Given the description of an element on the screen output the (x, y) to click on. 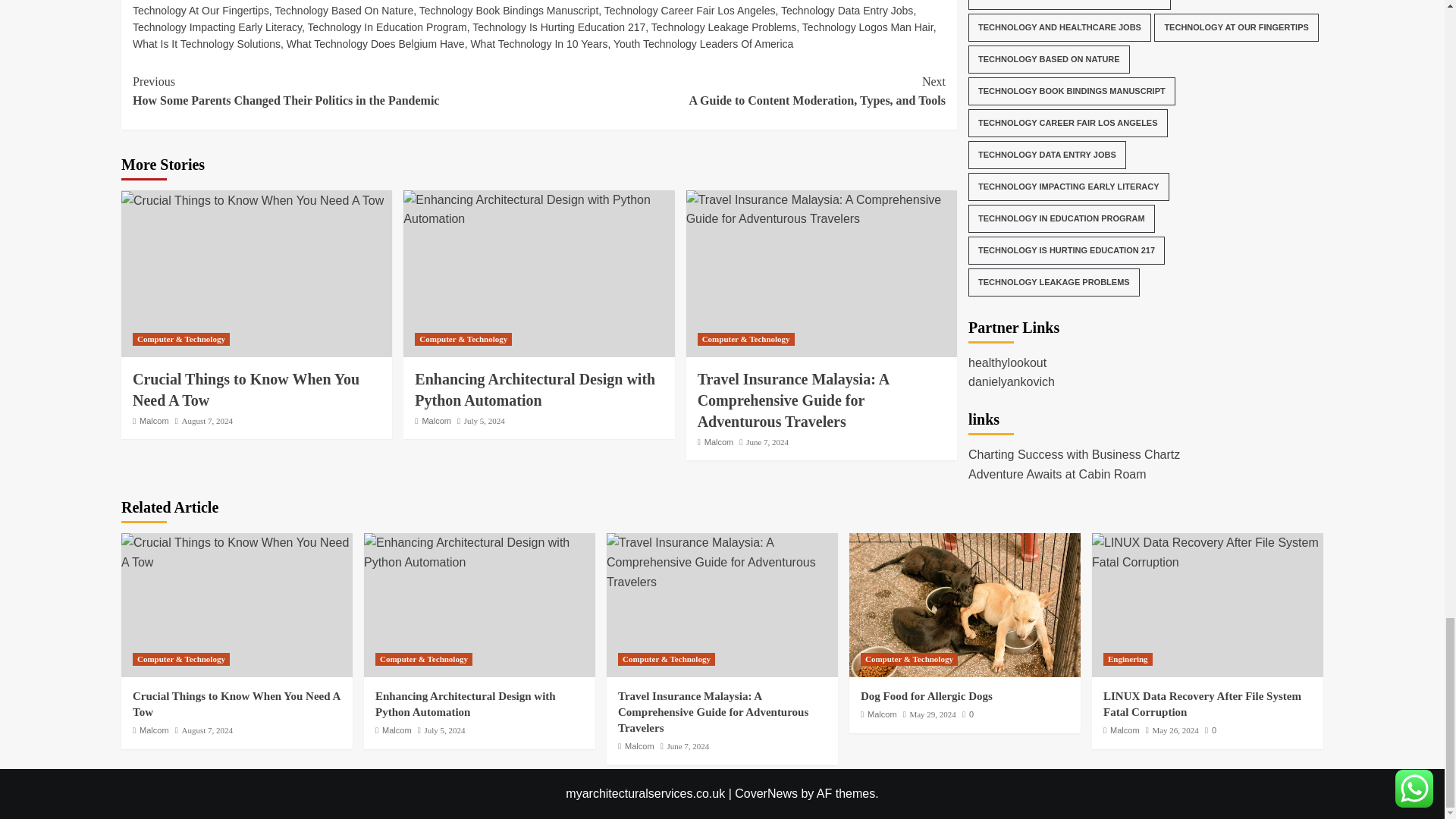
Crucial Things to Know When You Need A Tow (236, 552)
Enhancing Architectural Design with Python Automation (538, 209)
Crucial Things to Know When You Need A Tow (252, 200)
